Given the description of an element on the screen output the (x, y) to click on. 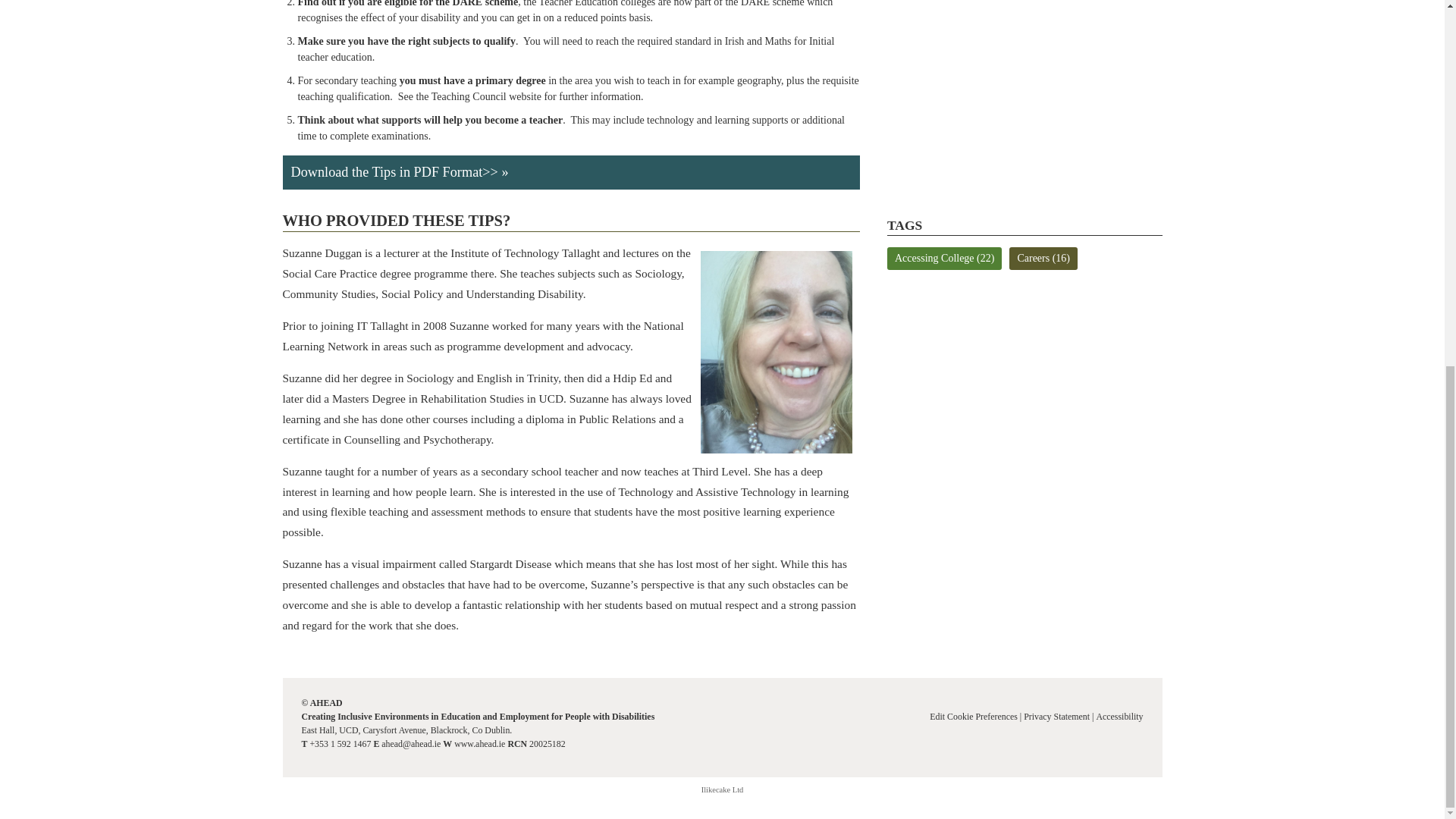
Accessibility (1119, 716)
Privacy Statement (1056, 716)
Edit Cookie Preferences (973, 716)
www.ahead.ie (479, 743)
AHEAD - Our Work (1023, 93)
Ilikecake Ltd (722, 789)
